Given the description of an element on the screen output the (x, y) to click on. 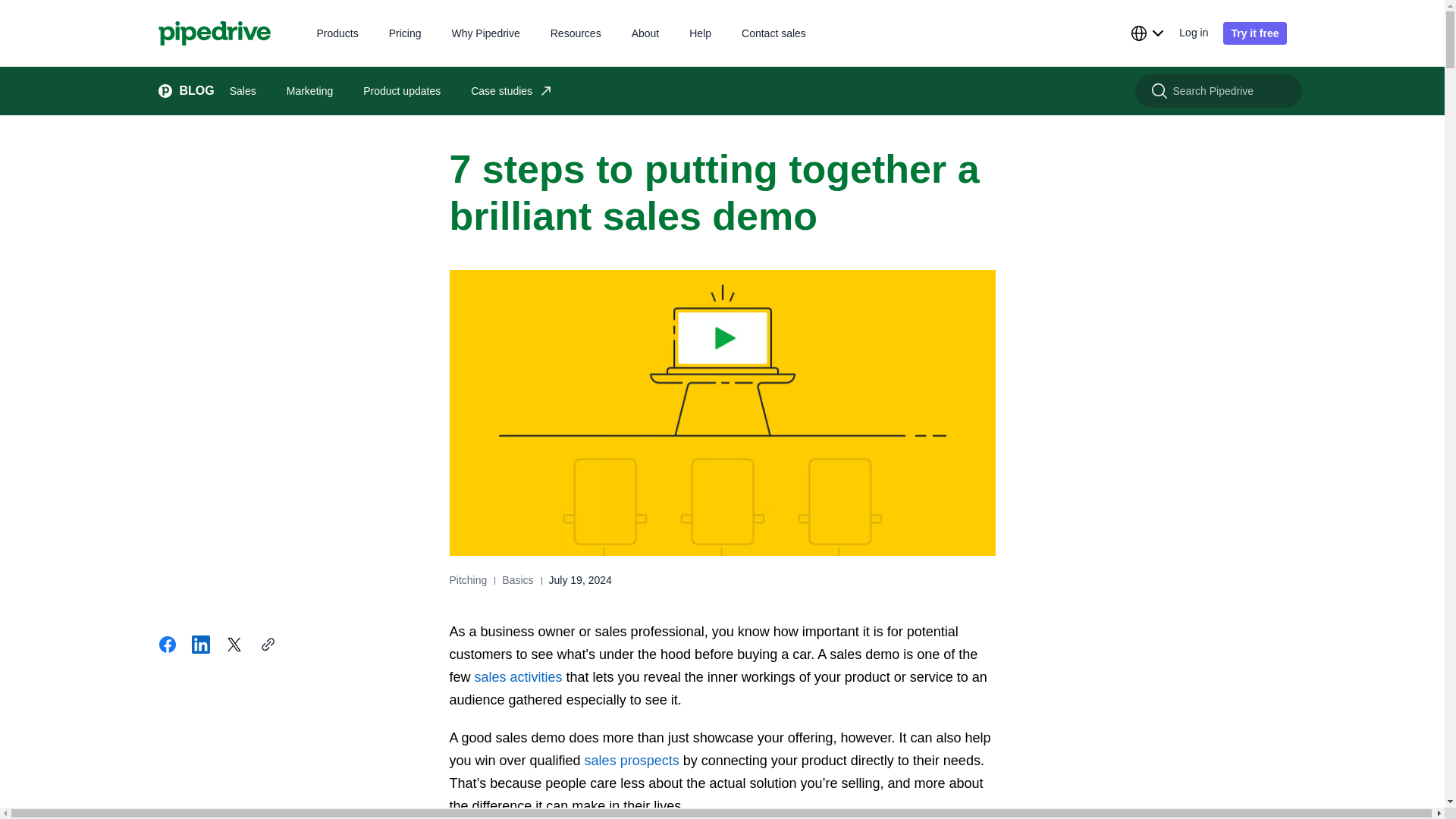
sales prospects (632, 760)
Resources (575, 32)
Sales (242, 90)
Marketing (308, 90)
Pricing (405, 32)
BLOG (178, 90)
Case studies (511, 90)
Pitching (467, 580)
Try it free (1254, 33)
Contact sales (773, 32)
